Given the description of an element on the screen output the (x, y) to click on. 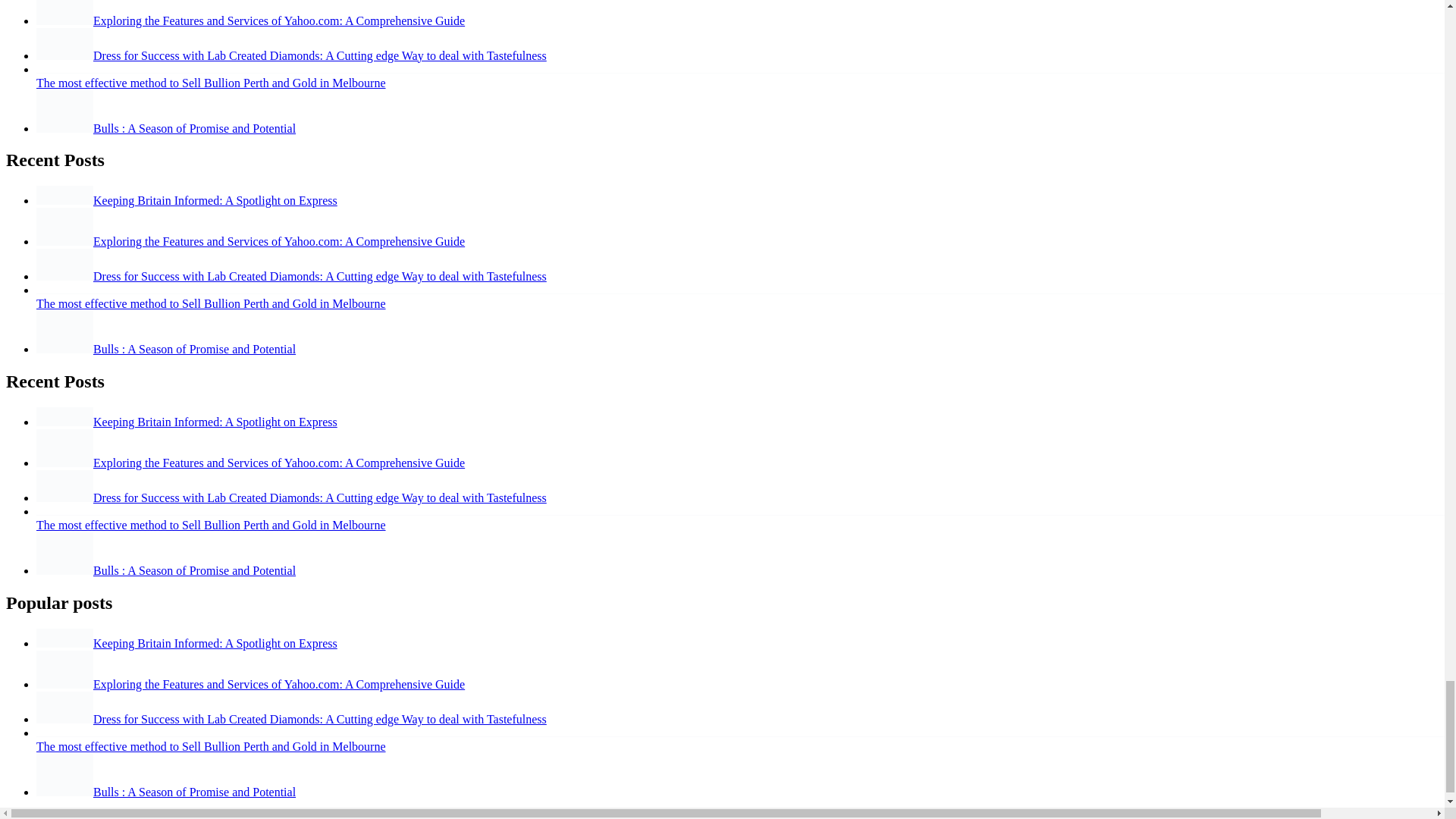
lab created diamonds (64, 486)
lab created diamonds (64, 264)
lab created diamonds (64, 43)
lab created diamonds (64, 707)
